Given the description of an element on the screen output the (x, y) to click on. 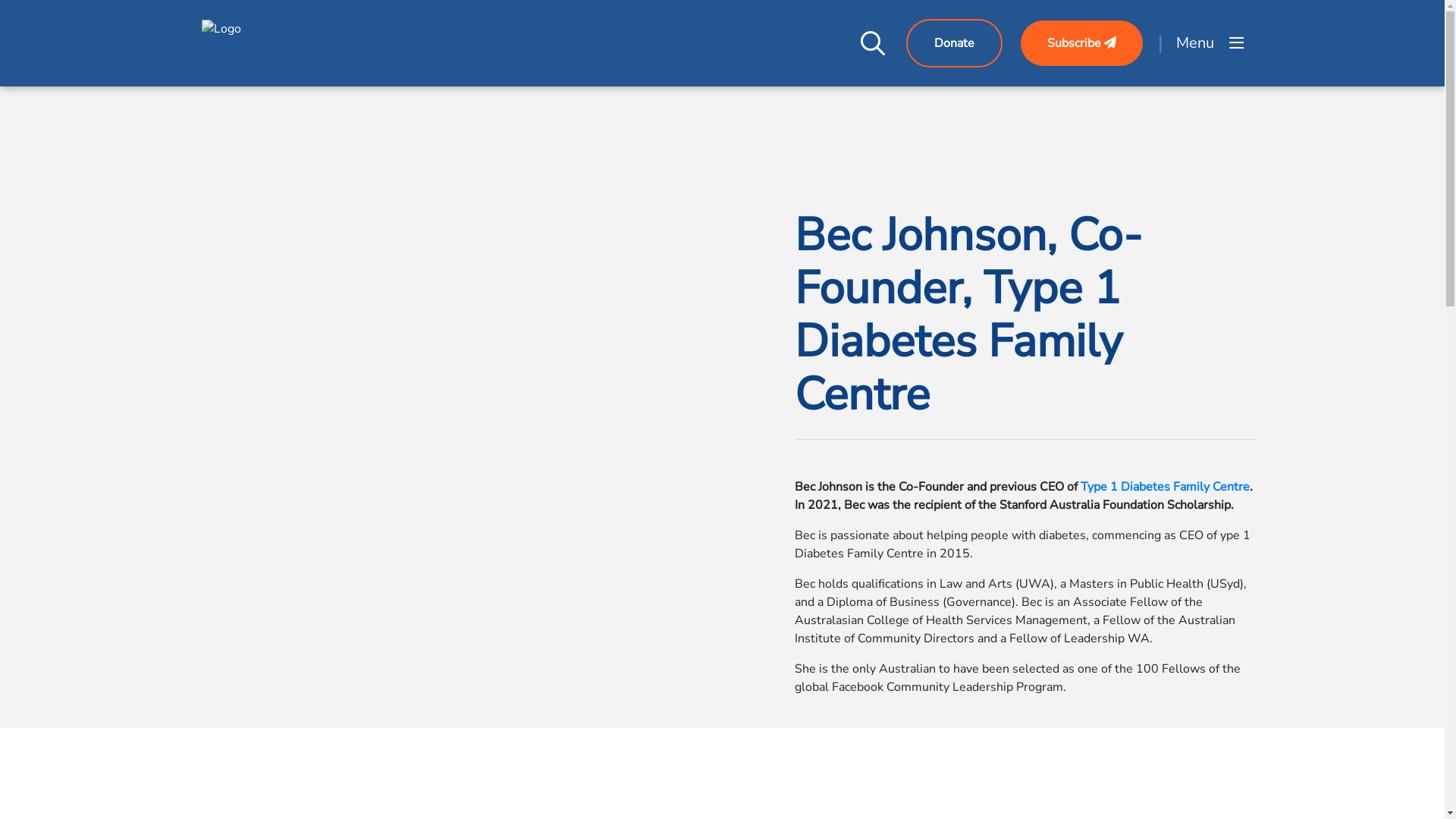
Menu Element type: text (1208, 42)
Subscribe Element type: text (1081, 42)
Donate Element type: text (953, 42)
Type 1 Diabetes Family Centre Element type: text (1163, 486)
